Given the description of an element on the screen output the (x, y) to click on. 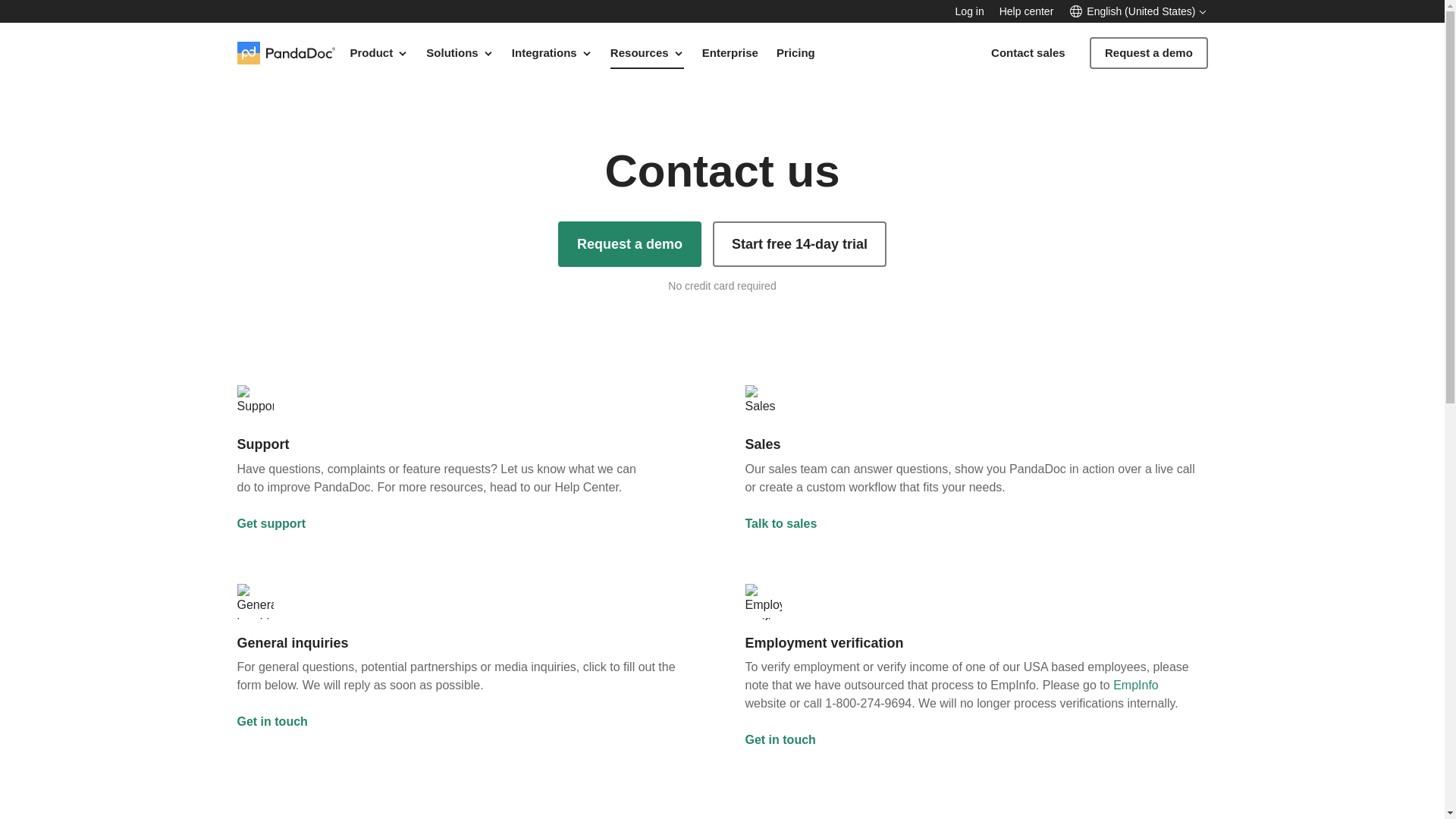
Solutions (459, 52)
Help center (1026, 10)
Product (379, 52)
Log in (969, 10)
